Given the description of an element on the screen output the (x, y) to click on. 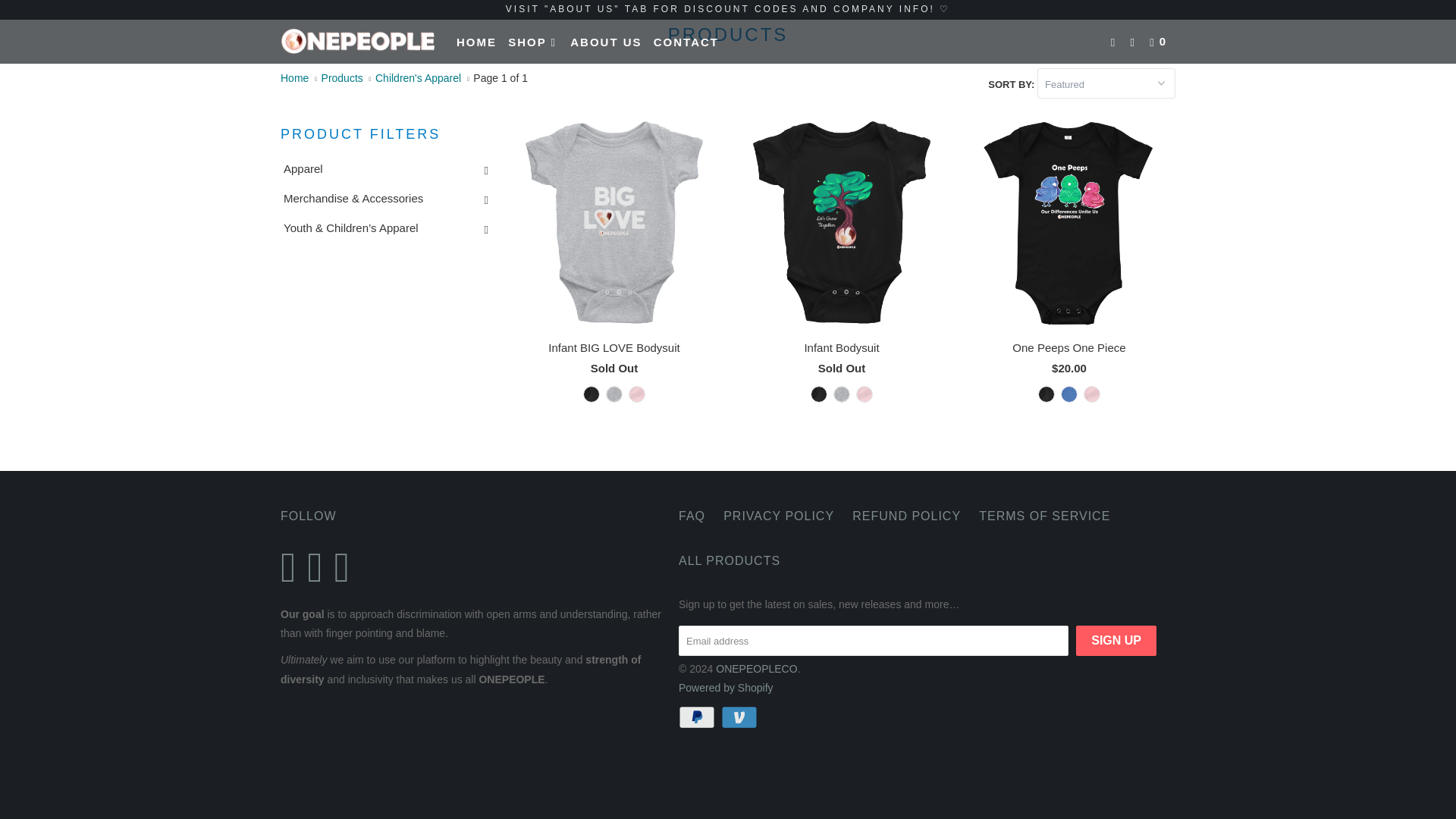
Children's Apparel (418, 78)
0 (1160, 42)
Venmo (740, 716)
ONEPEOPLECO (294, 78)
Products (341, 78)
PayPal (697, 716)
Sign Up (1115, 640)
ONEPEOPLECO (358, 41)
